Given the description of an element on the screen output the (x, y) to click on. 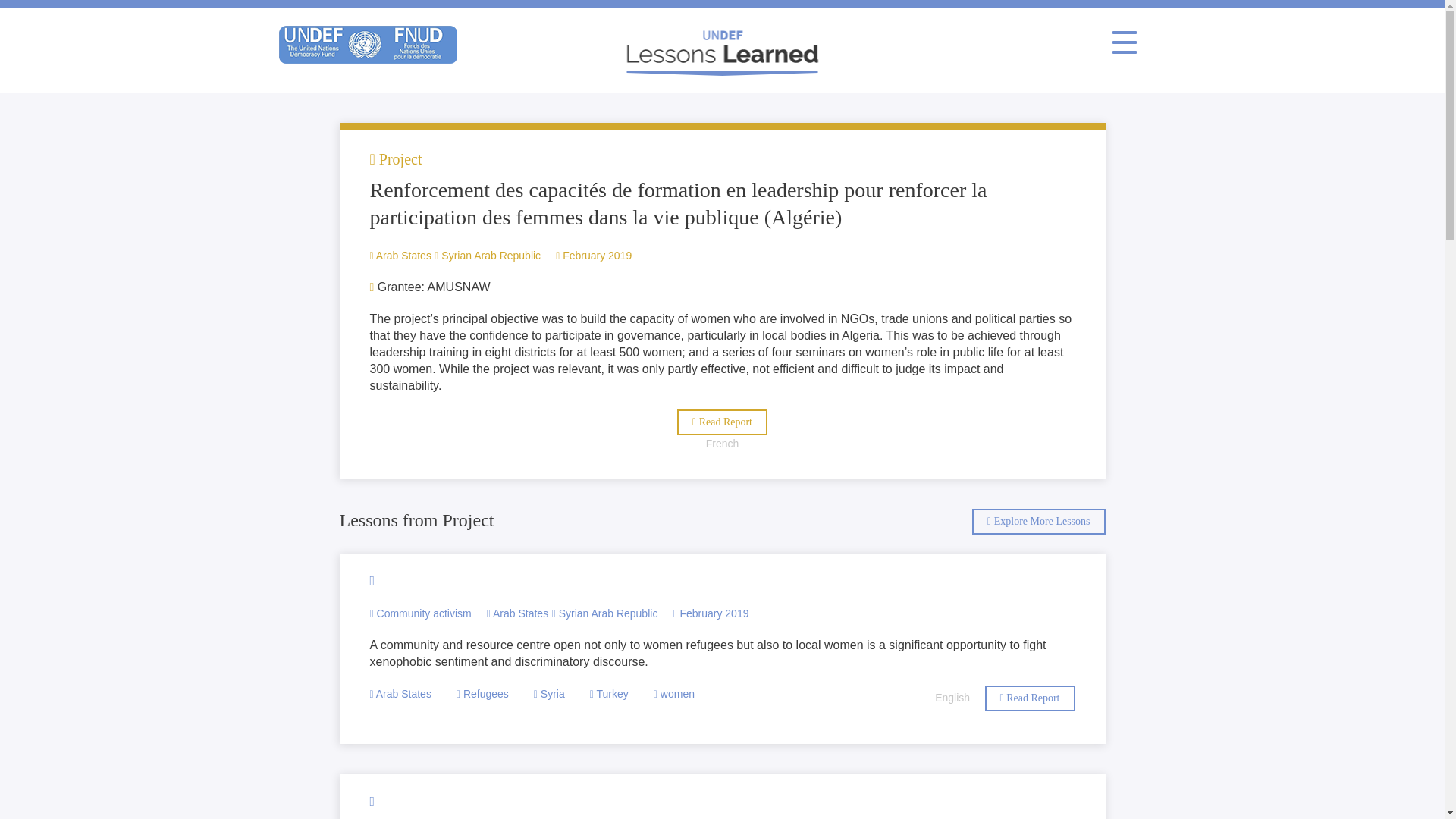
Refugees (482, 693)
Turkey (608, 693)
Read Report (1029, 698)
Arab States (517, 613)
Read Report (722, 421)
Toggle navigation (1122, 42)
Explore More Lessons (1038, 521)
Arab States (399, 693)
Syrian Arab Republic (604, 613)
Syria (549, 693)
Syrian Arab Republic (486, 255)
Community activism (420, 613)
Arab States (399, 255)
women (673, 693)
